Given the description of an element on the screen output the (x, y) to click on. 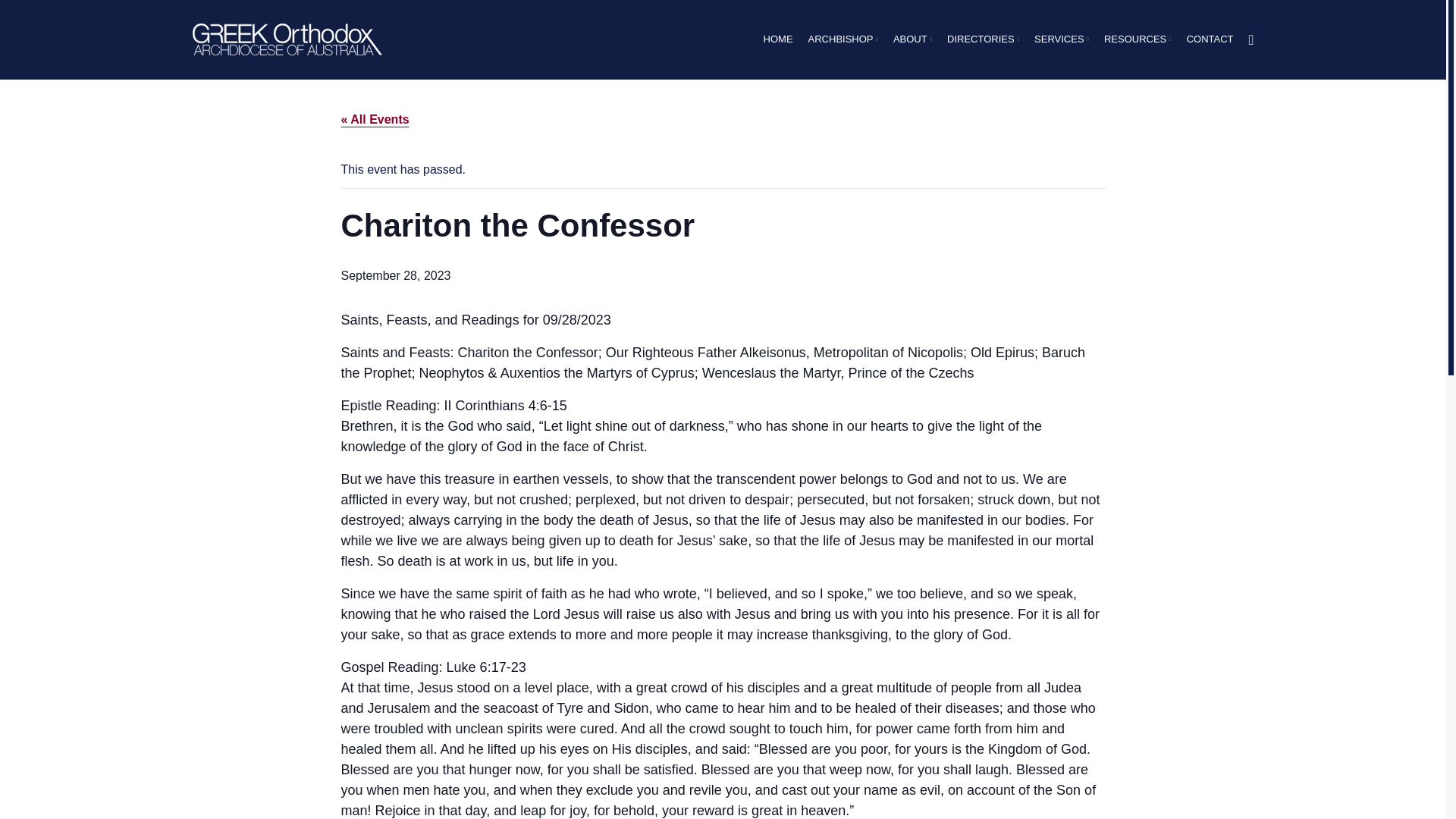
RESOURCES (1137, 39)
ABOUT (912, 39)
SERVICES (1061, 39)
DIRECTORIES (982, 39)
CONTACT (1210, 39)
Search (1251, 39)
ARCHBISHOP (842, 39)
HOME (777, 39)
